Given the description of an element on the screen output the (x, y) to click on. 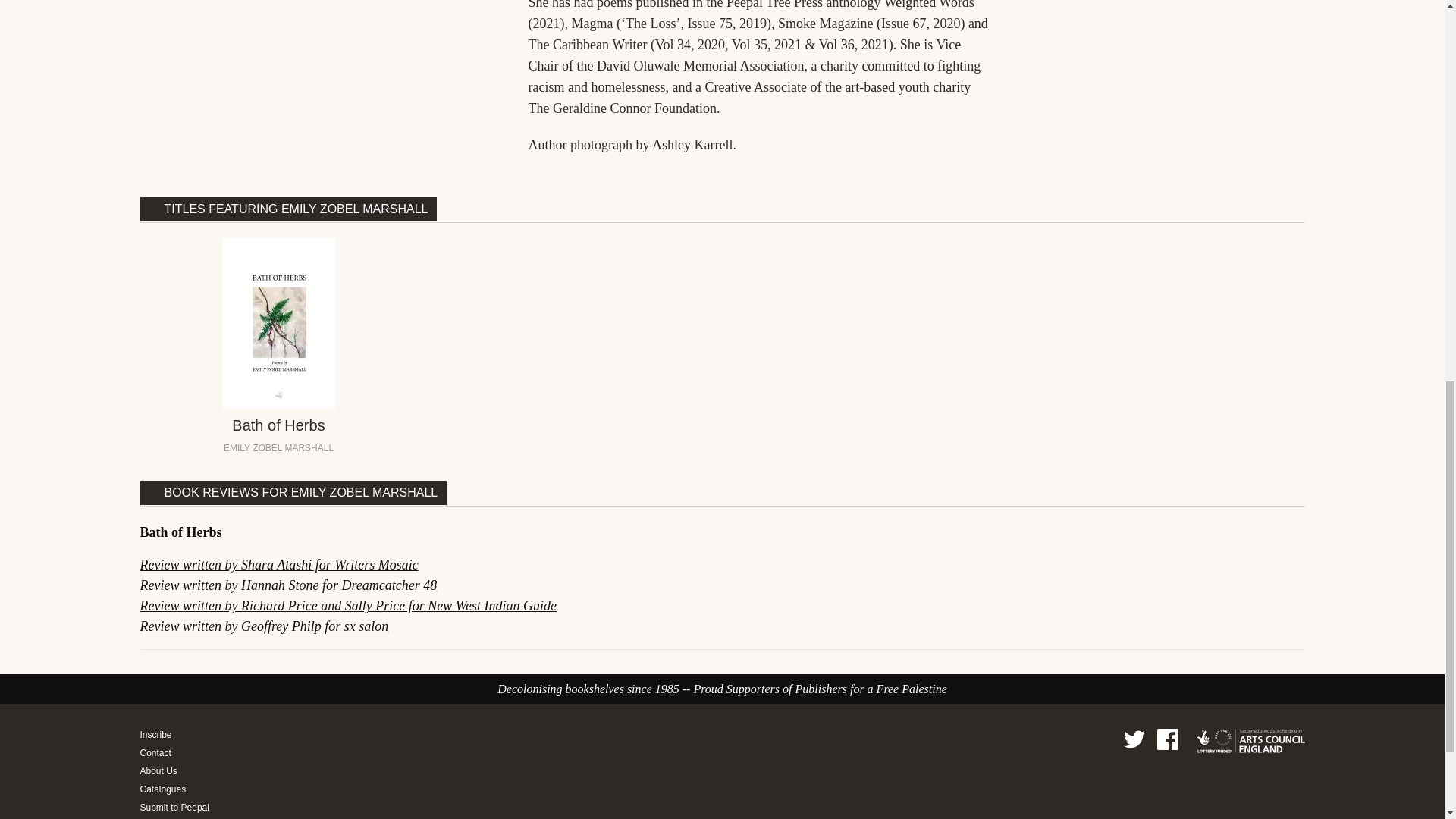
EMILY ZOBEL MARSHALL (278, 448)
Review written by Geoffrey Philp for sx salon (263, 626)
Review written by Hannah Stone for Dreamcatcher 48 (287, 585)
About Us (177, 770)
Inscribe writer development programme (177, 734)
Review written by Shara Atashi for Writers Mosaic (278, 564)
Inscribe (177, 734)
Catalogues (177, 788)
Contact (177, 752)
Submit to Peepal (177, 807)
